Given the description of an element on the screen output the (x, y) to click on. 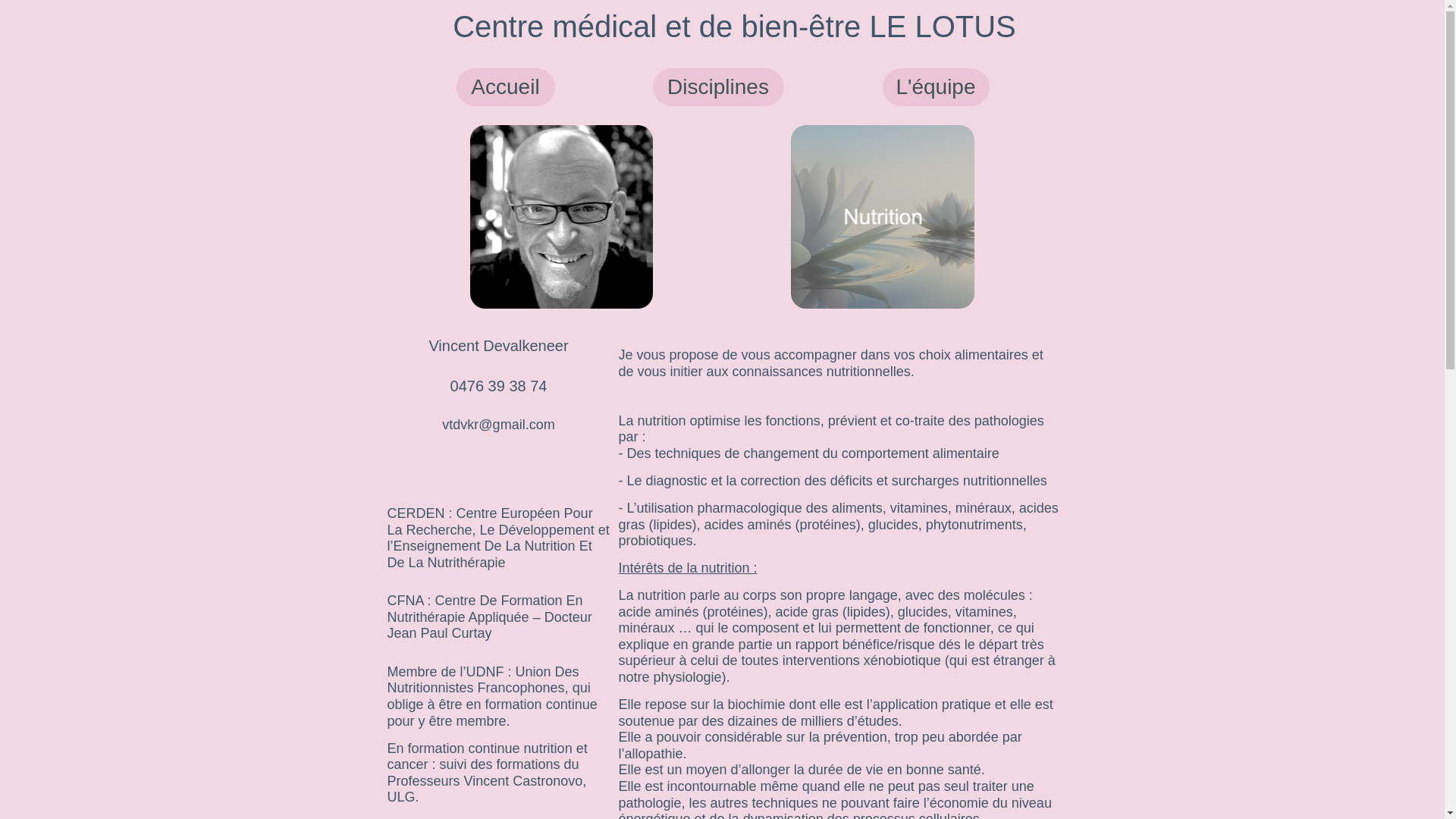
Accueil Element type: text (505, 87)
vtdvkr@gmail.com Element type: text (498, 425)
psychotherapie_slide_02 Element type: hover (882, 216)
Photo Vince CV Element type: hover (561, 216)
Disciplines Element type: text (717, 87)
